Given the description of an element on the screen output the (x, y) to click on. 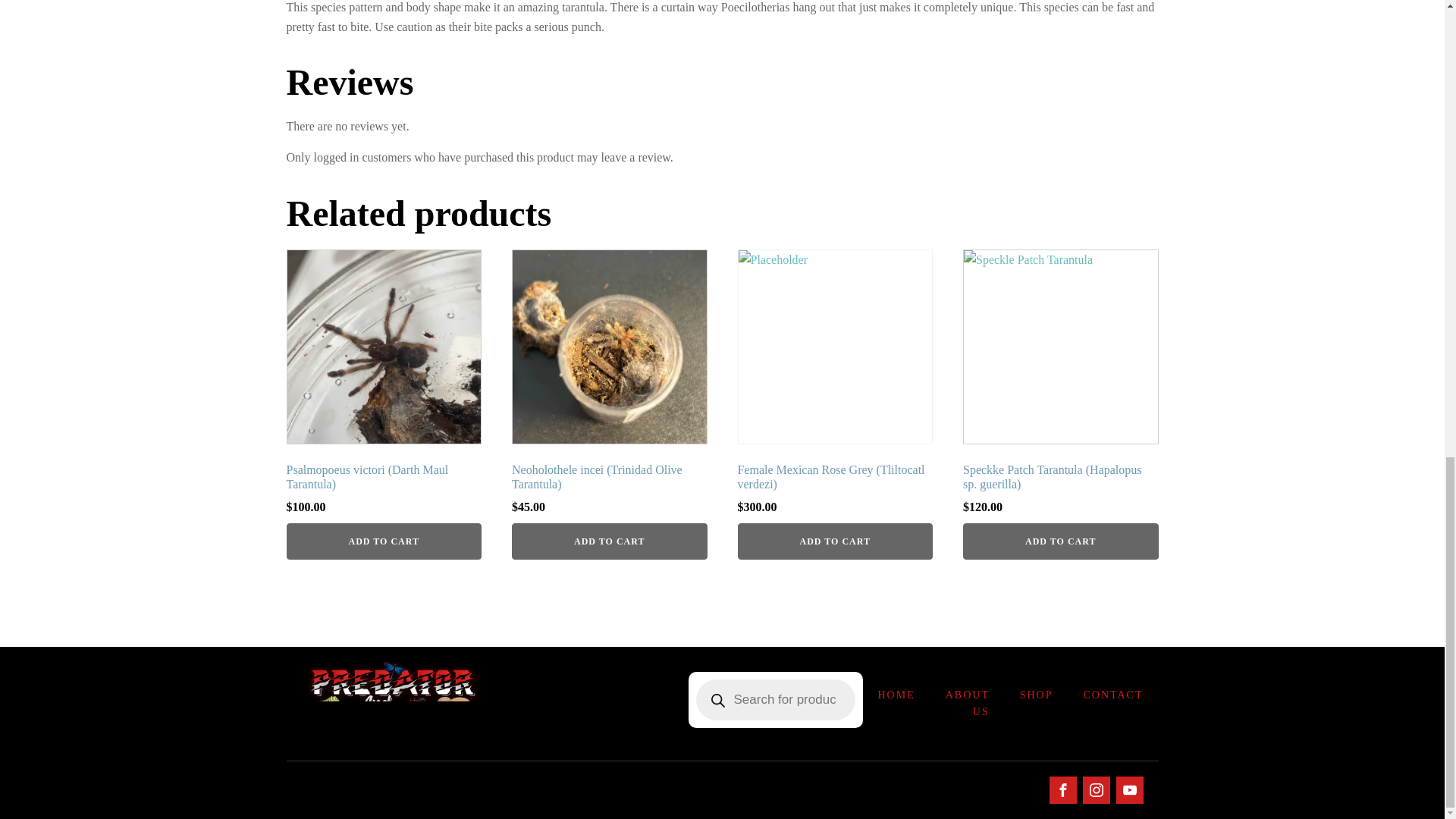
ADD TO CART (834, 541)
CONTACT (1112, 695)
ADD TO CART (383, 541)
ADD TO CART (609, 541)
SHOP (1036, 695)
HOME (896, 695)
ABOUT US (967, 703)
ADD TO CART (1060, 541)
